Given the description of an element on the screen output the (x, y) to click on. 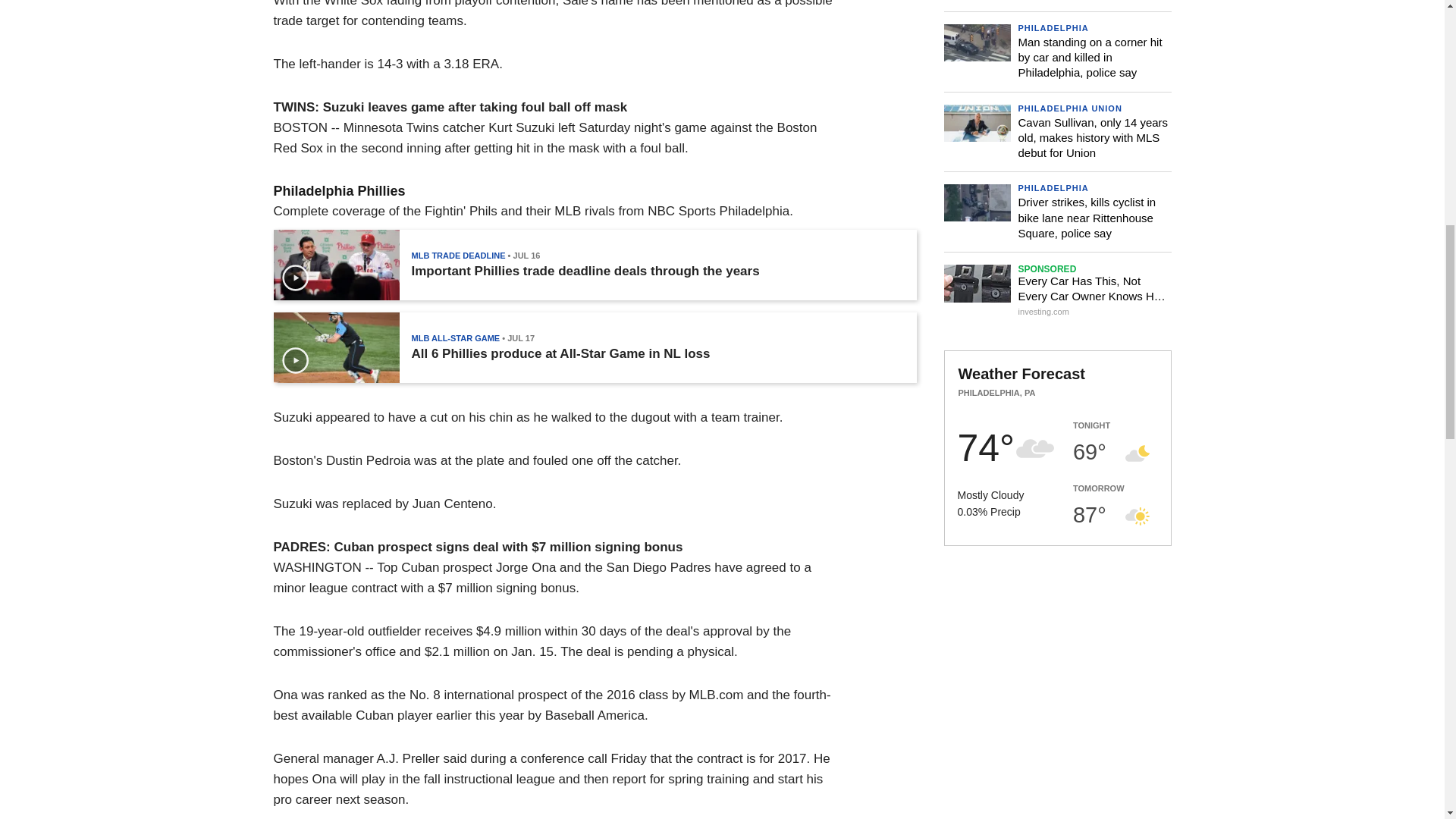
MLB TRADE DEADLINE (457, 255)
Important Phillies trade deadline deals through the years (584, 271)
All 6 Phillies produce at All-Star Game in NL loss (560, 353)
MLB ALL-STAR GAME (454, 338)
